Given the description of an element on the screen output the (x, y) to click on. 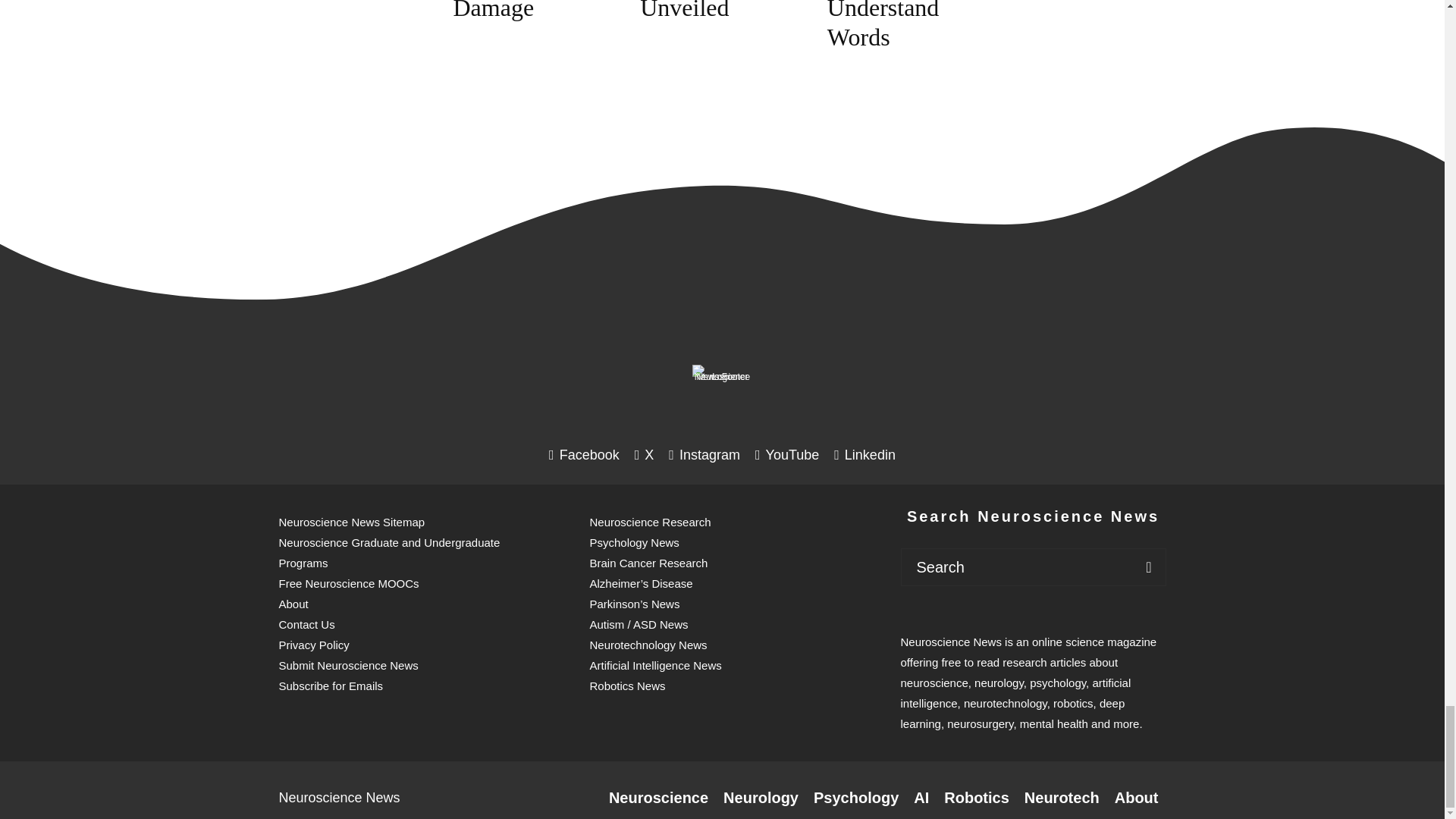
Psychology Research Articles (855, 797)
Neuroscience Research (657, 797)
Neurology Research Articles (760, 797)
